Given the description of an element on the screen output the (x, y) to click on. 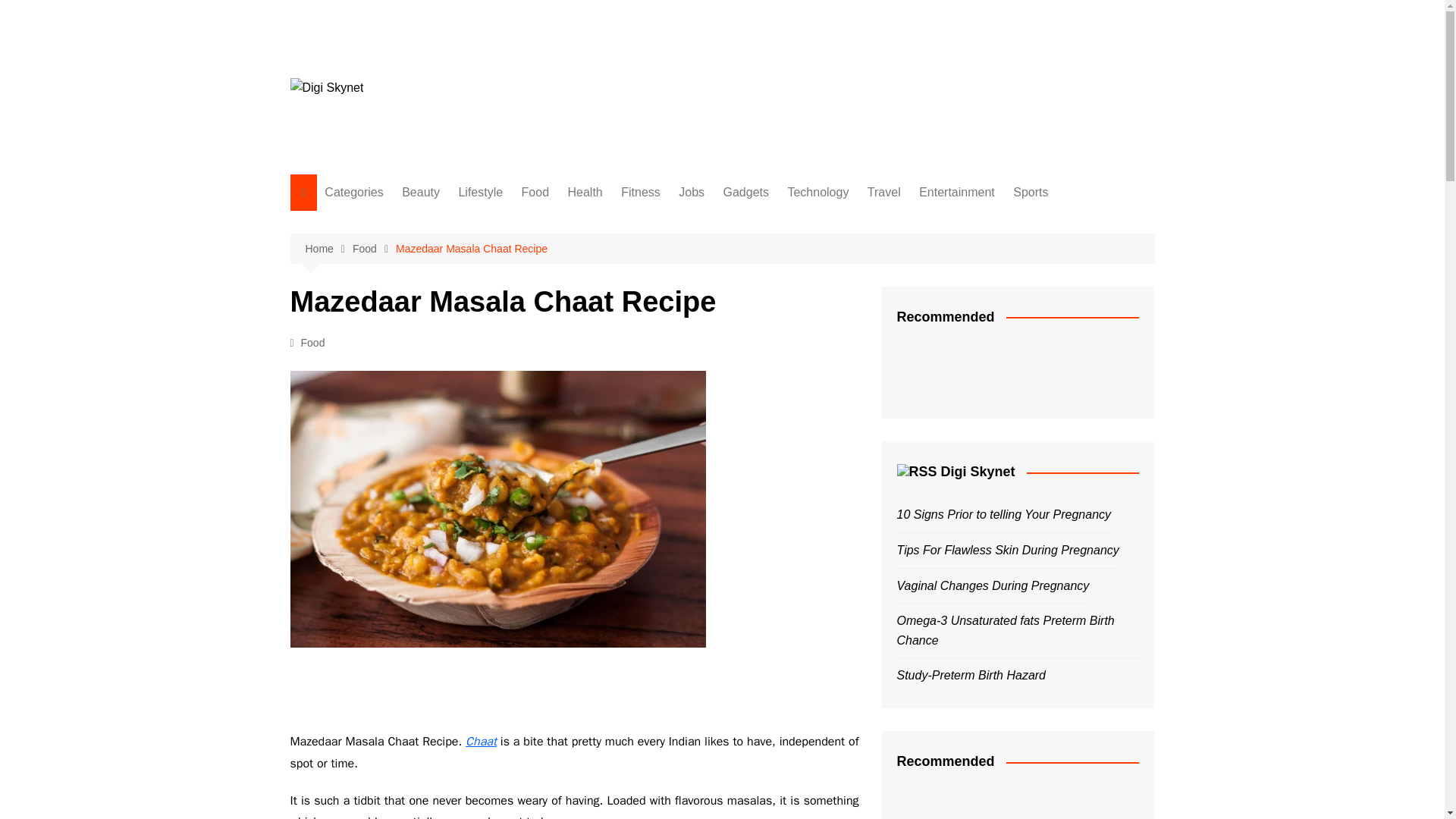
Jobs (400, 373)
Sports (1030, 192)
Food (374, 248)
Home (328, 248)
Food (534, 192)
Beauty (400, 222)
Fitness (400, 323)
Make Money Online (400, 548)
Mazedaar Masala Chaat Recipe (471, 248)
Pets (400, 523)
